Given the description of an element on the screen output the (x, y) to click on. 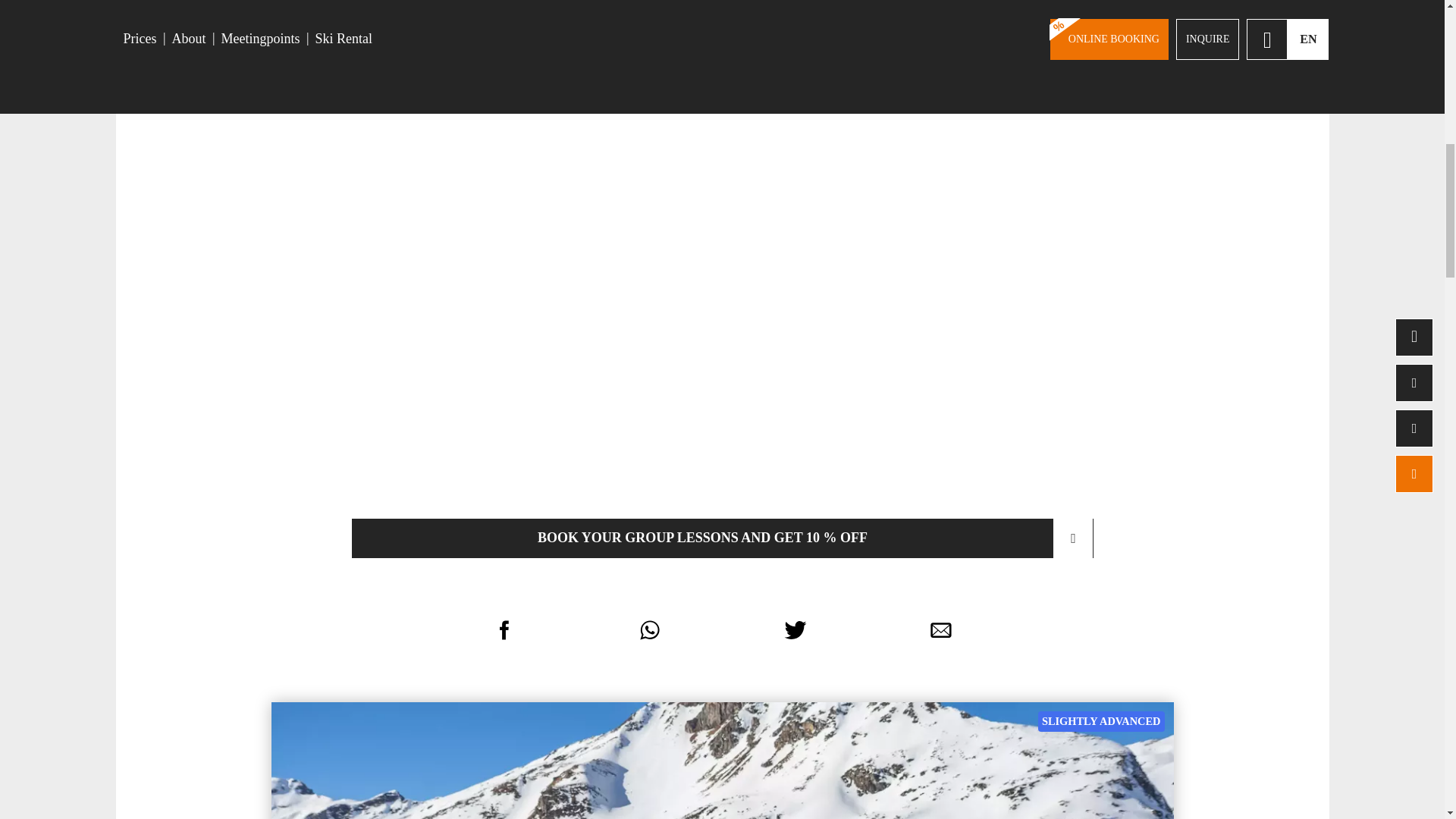
Created with Sketch. (504, 630)
Created with Sketch. (504, 630)
Created with Sketch. (650, 630)
Email (941, 630)
Whatsapp (650, 630)
Facebook (504, 630)
Twitter (795, 630)
Created with Sketch. (795, 630)
